Given the description of an element on the screen output the (x, y) to click on. 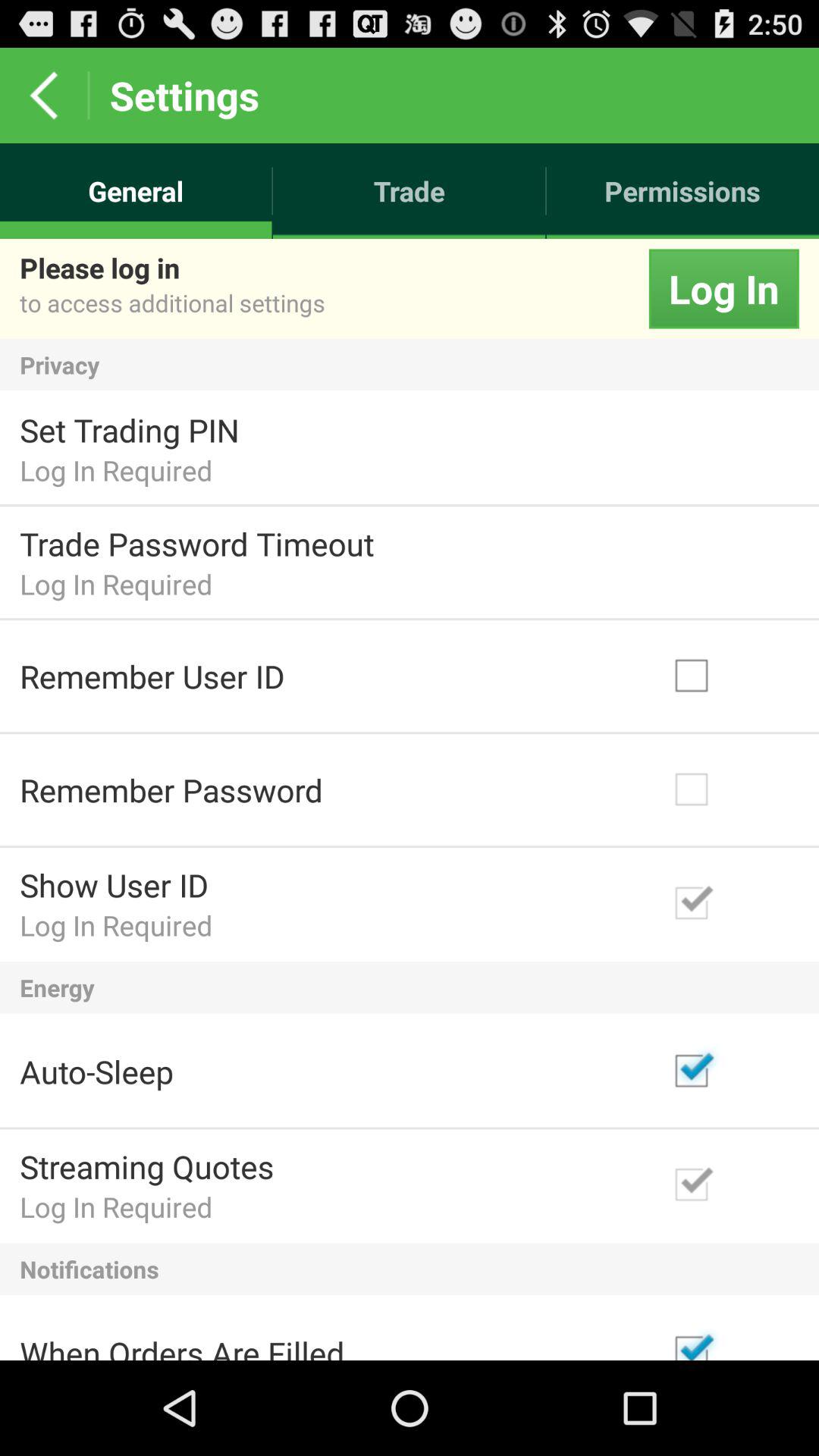
launch the icon to the left of the settings icon (43, 95)
